Given the description of an element on the screen output the (x, y) to click on. 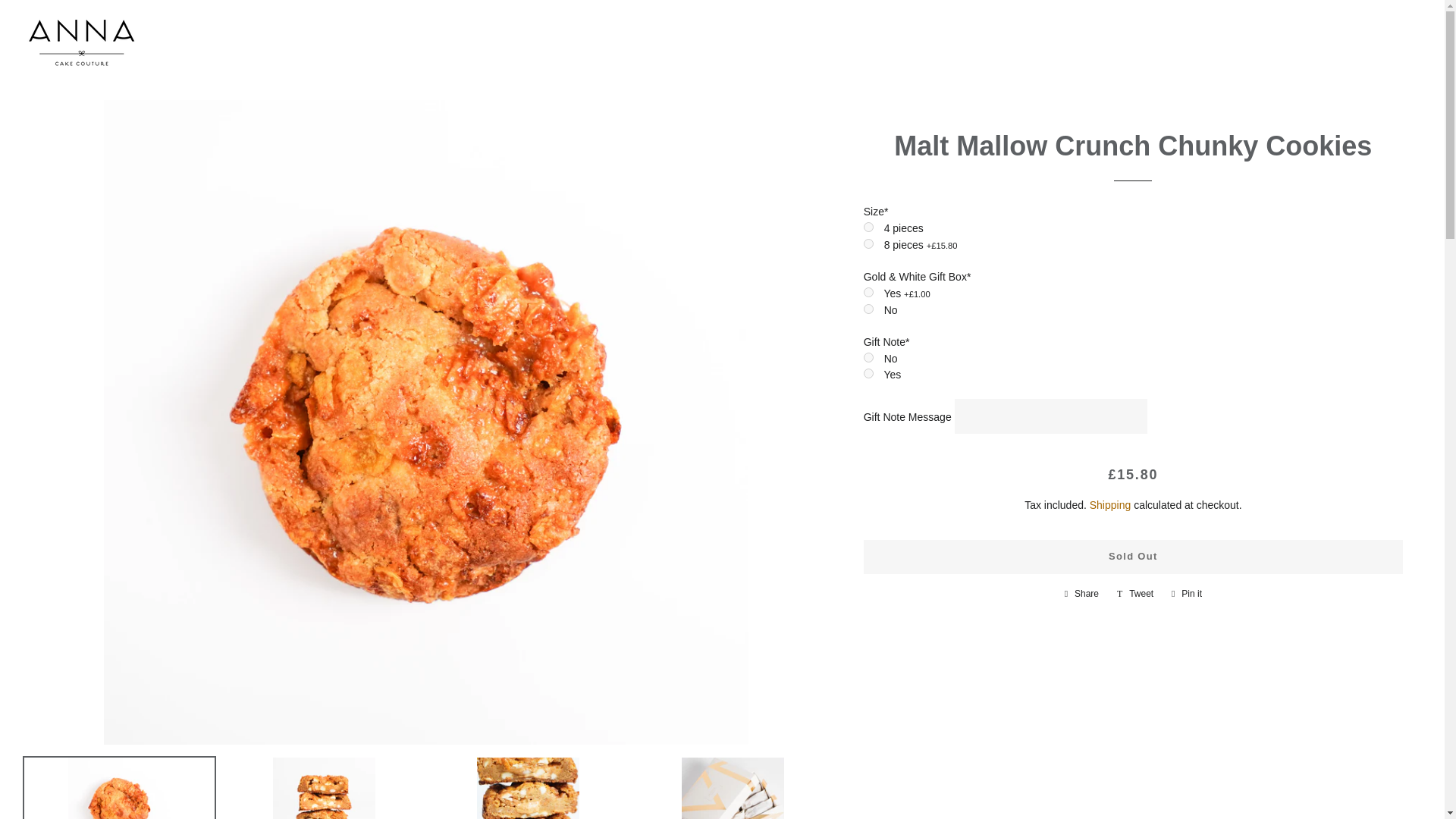
Pin on Pinterest (1186, 593)
No (868, 357)
Tweet on Twitter (1134, 593)
No (868, 308)
Yes (868, 373)
8 pieces (868, 243)
4 pieces (868, 226)
Share on Facebook (1081, 593)
Yes (868, 292)
